Given the description of an element on the screen output the (x, y) to click on. 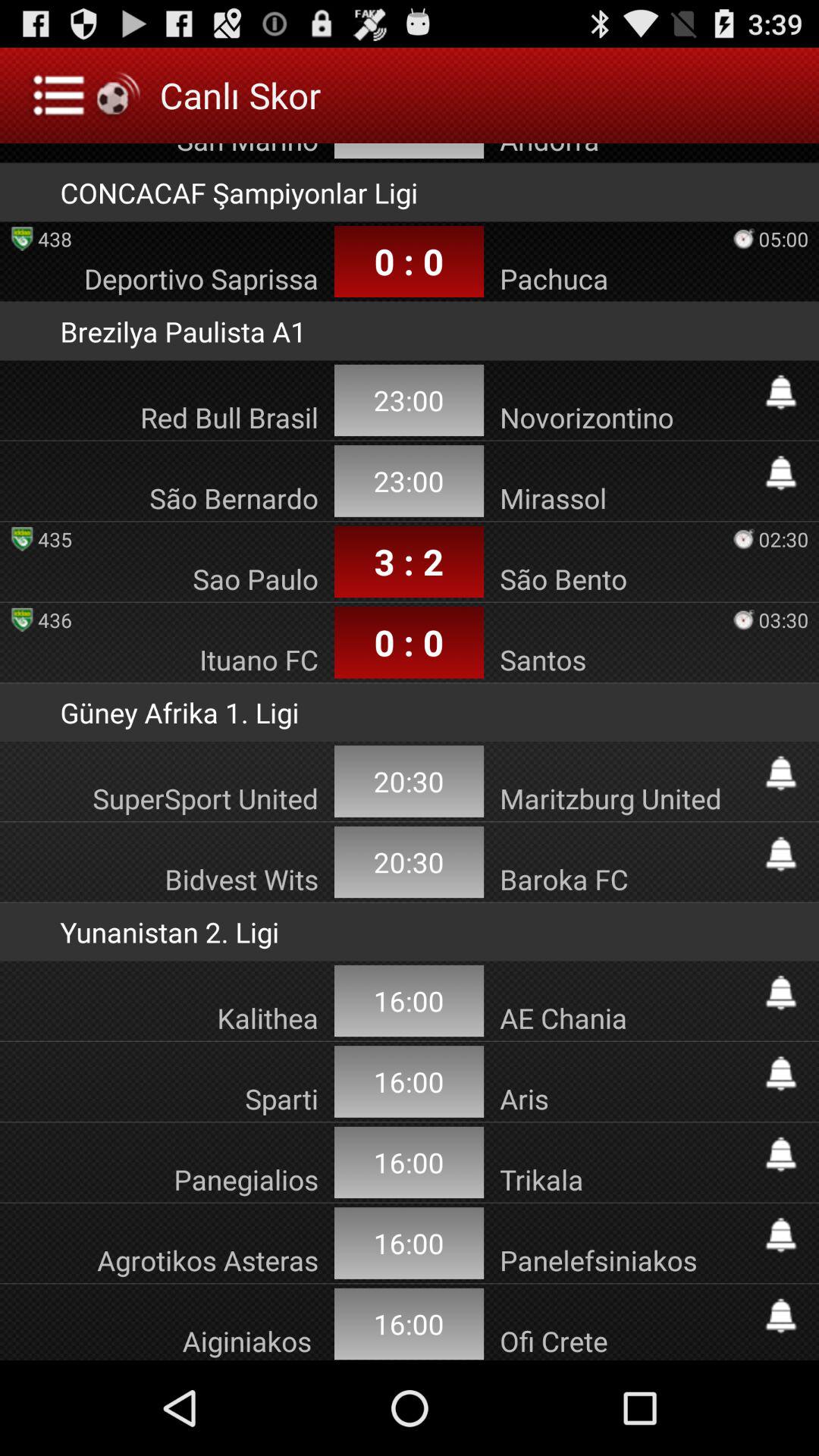
set reminder for game (780, 1073)
